Given the description of an element on the screen output the (x, y) to click on. 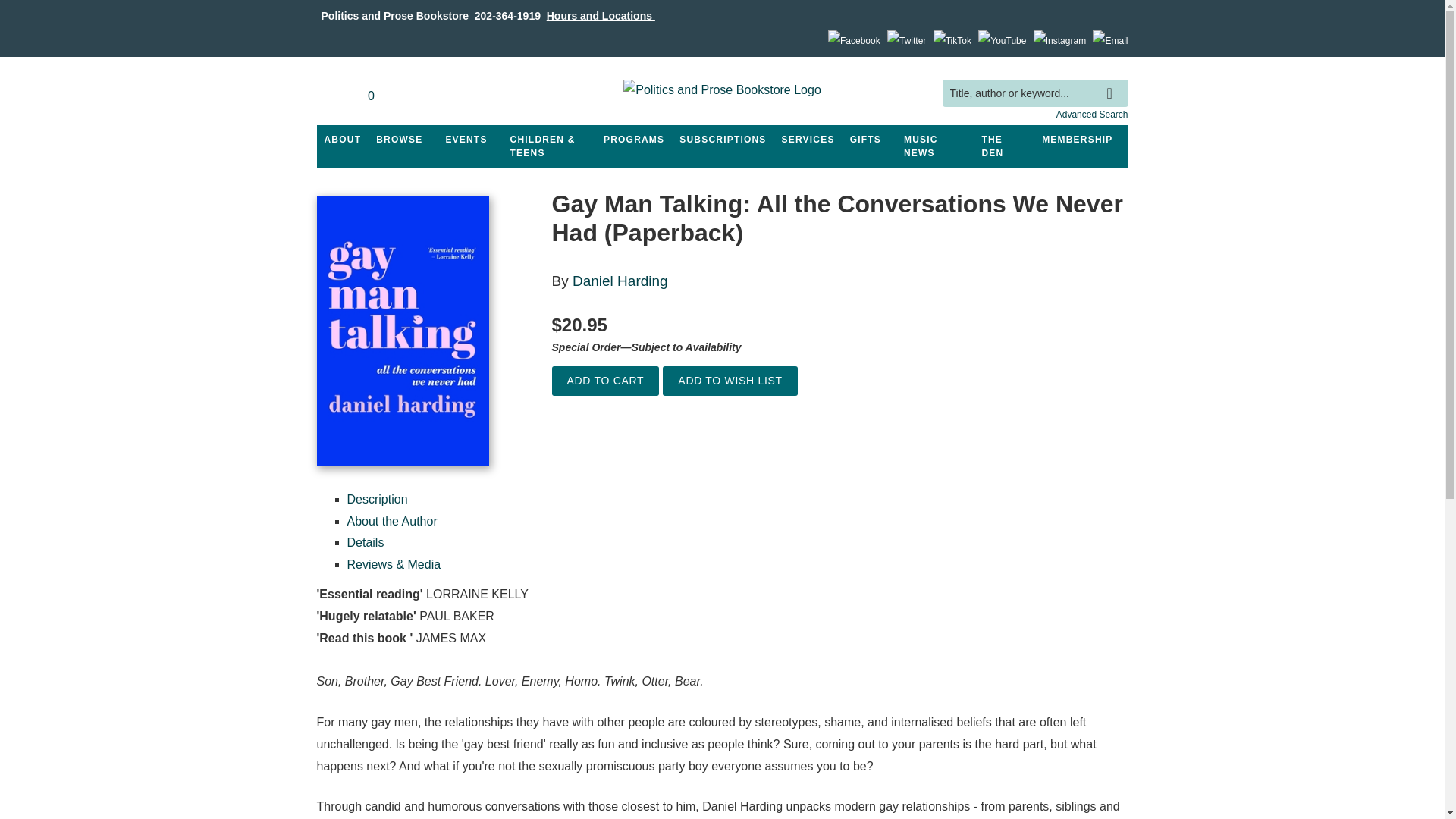
See our store ours and locations (601, 15)
Hours and Locations  (601, 15)
search (1112, 81)
Add to Wish List (729, 380)
EVENTS (465, 139)
Add to Cart (605, 380)
See information about our programs (633, 139)
Advanced Search (1092, 113)
search (1112, 81)
SUBSCRIPTIONS (722, 139)
